Given the description of an element on the screen output the (x, y) to click on. 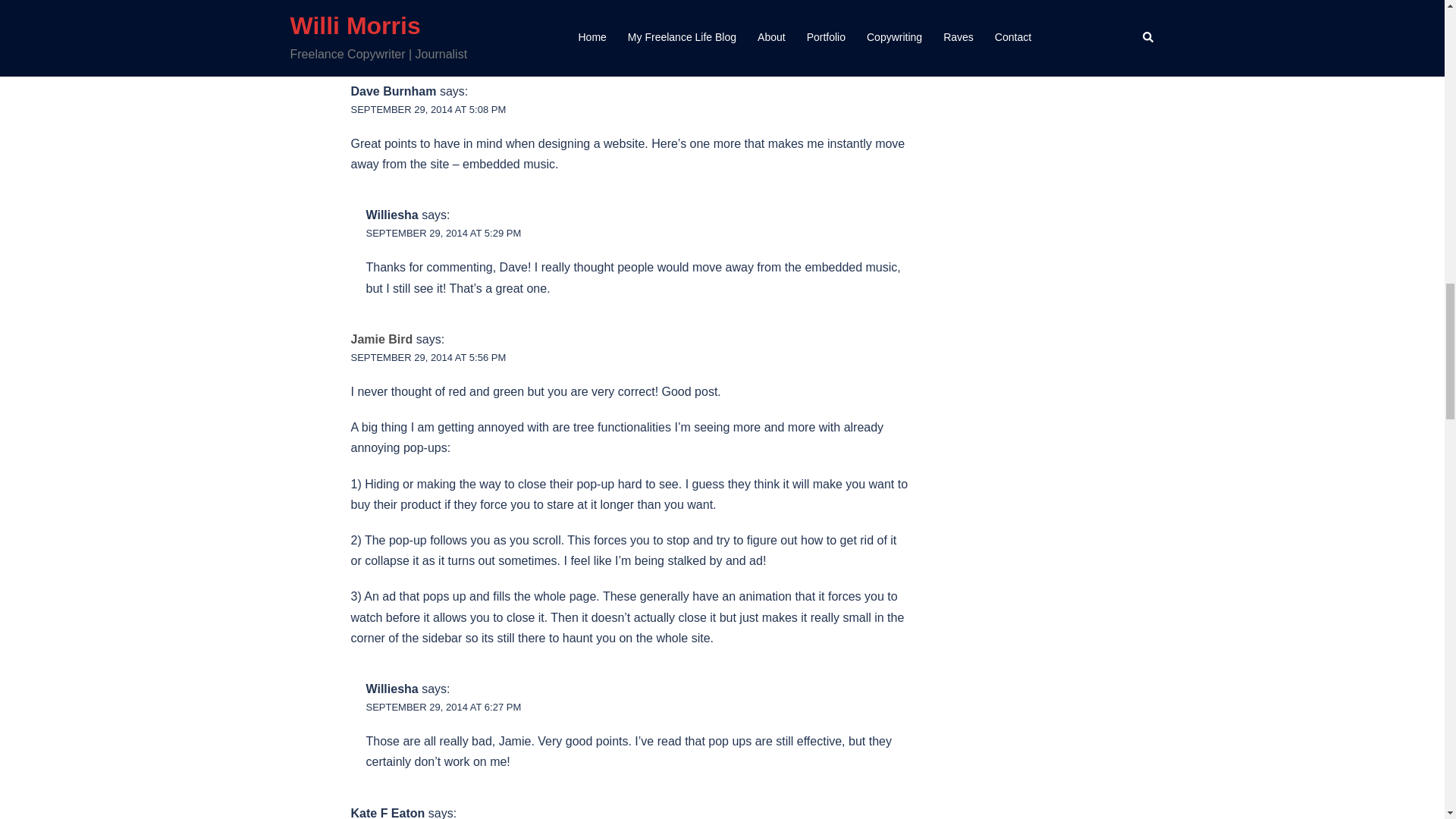
SEPTEMBER 29, 2014 AT 5:29 PM (443, 233)
Williesha (391, 214)
Dave Burnham (392, 91)
SEPTEMBER 29, 2014 AT 5:56 PM (427, 357)
SEPTEMBER 29, 2014 AT 5:08 PM (427, 109)
